Given the description of an element on the screen output the (x, y) to click on. 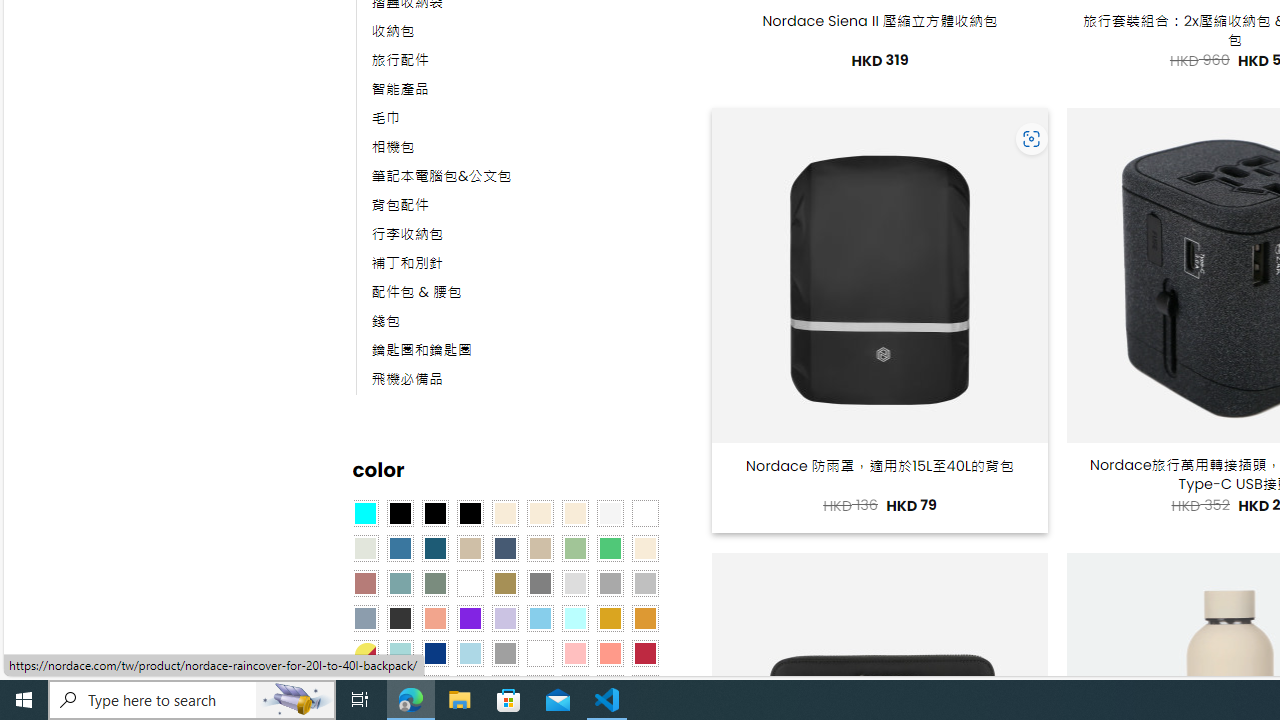
Cream (574, 514)
